Given the description of an element on the screen output the (x, y) to click on. 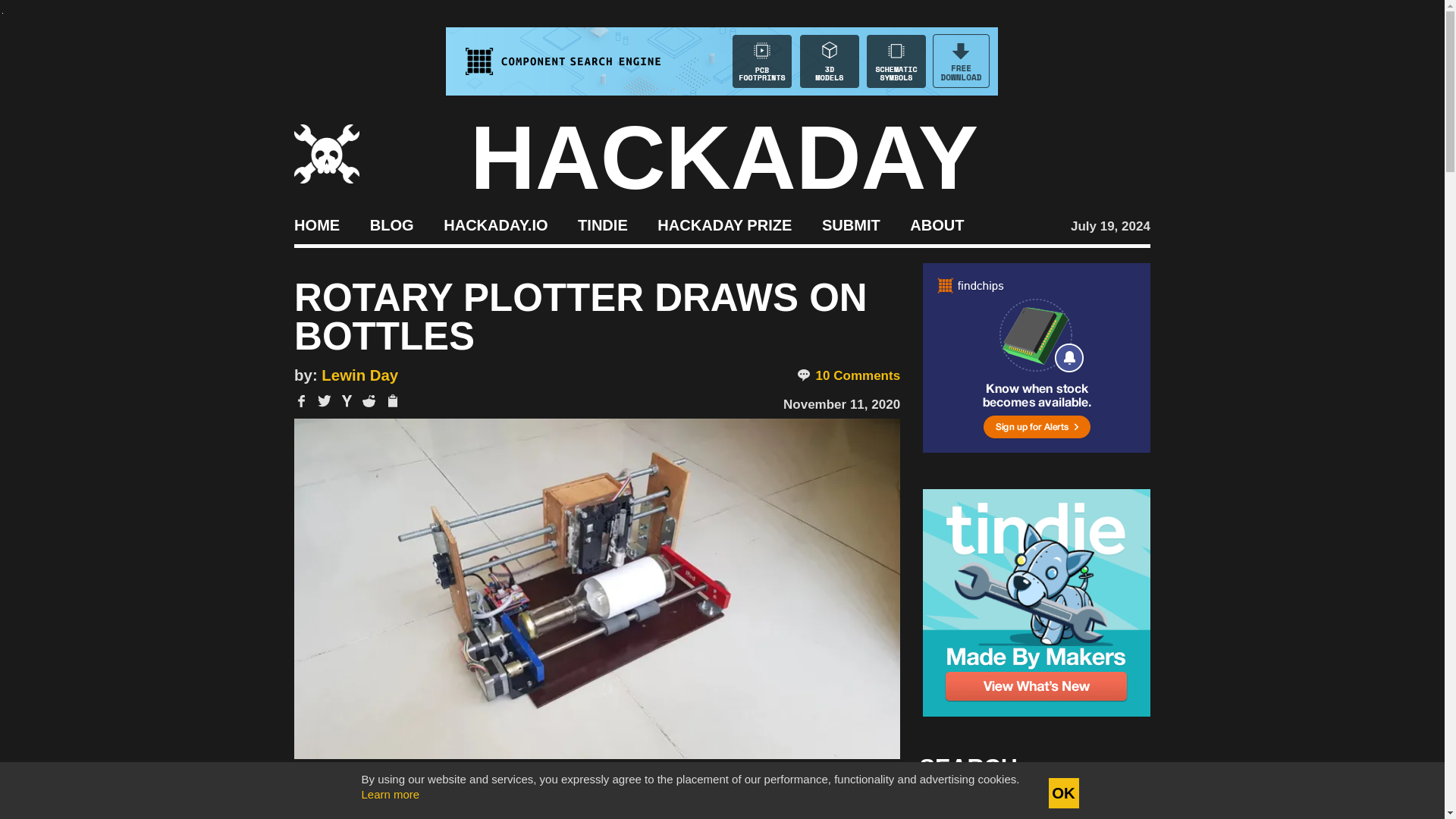
Search (1115, 808)
HACKADAY PRIZE (725, 224)
Share on Hacker News (347, 400)
ABOUT (936, 224)
BLOG (391, 224)
Search (1115, 808)
Lewin Day (359, 375)
Build Something that Matters (725, 224)
HACKADAY (724, 157)
Share on Twitter (324, 400)
November 11, 2020 (841, 404)
Share on Facebook (301, 400)
Share on Reddit (369, 400)
HACKADAY.IO (495, 224)
Copy title or shortlink (391, 401)
